Given the description of an element on the screen output the (x, y) to click on. 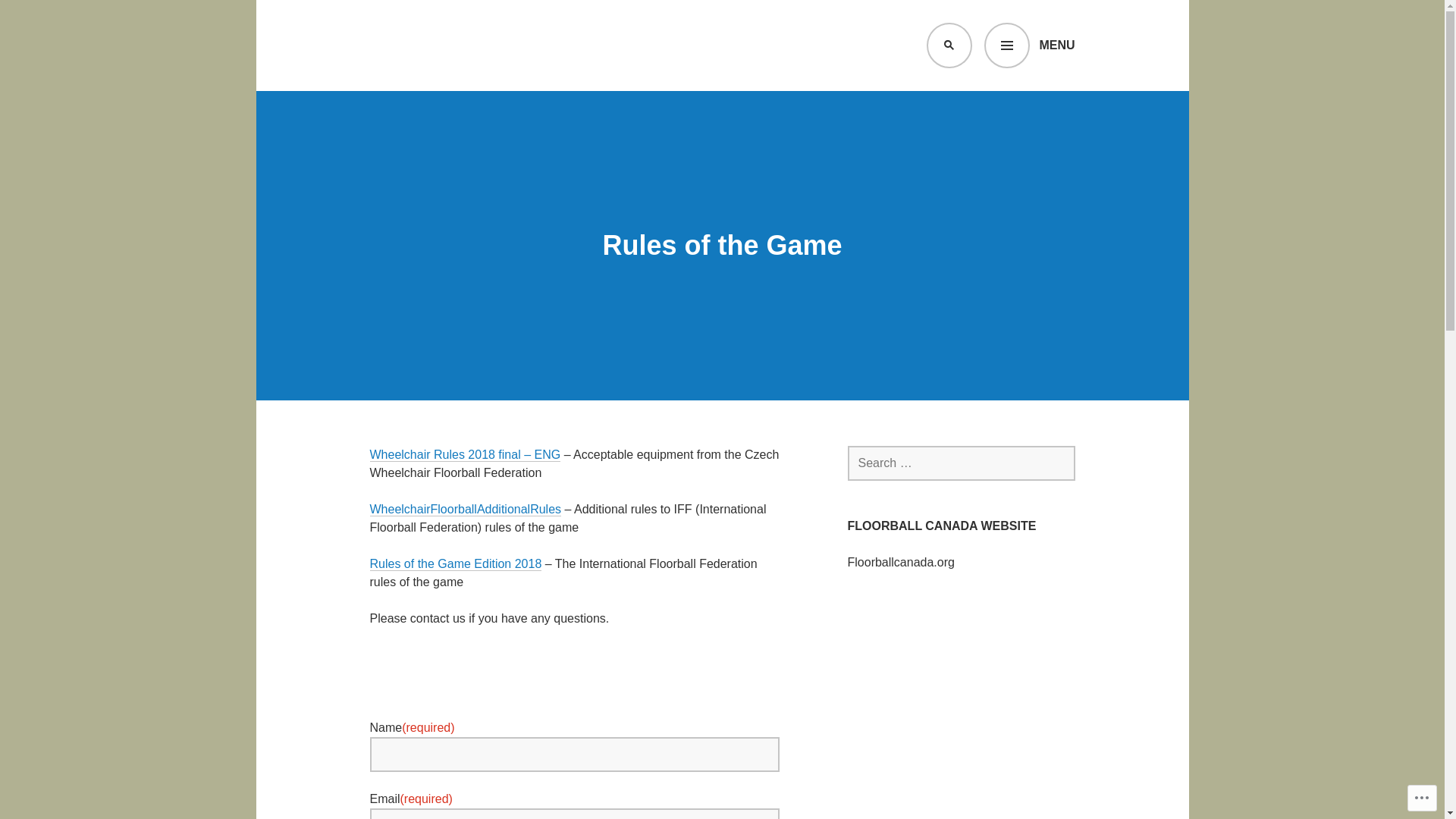
MENU Element type: text (1029, 45)
Search Element type: text (45, 17)
WheelchairFloorballAdditionalRules Element type: text (465, 509)
Rules of the Game Edition 2018 Element type: text (456, 564)
BC WHEELCHAIR FLOORBALL ASSOCIATION Element type: text (670, 93)
